Given the description of an element on the screen output the (x, y) to click on. 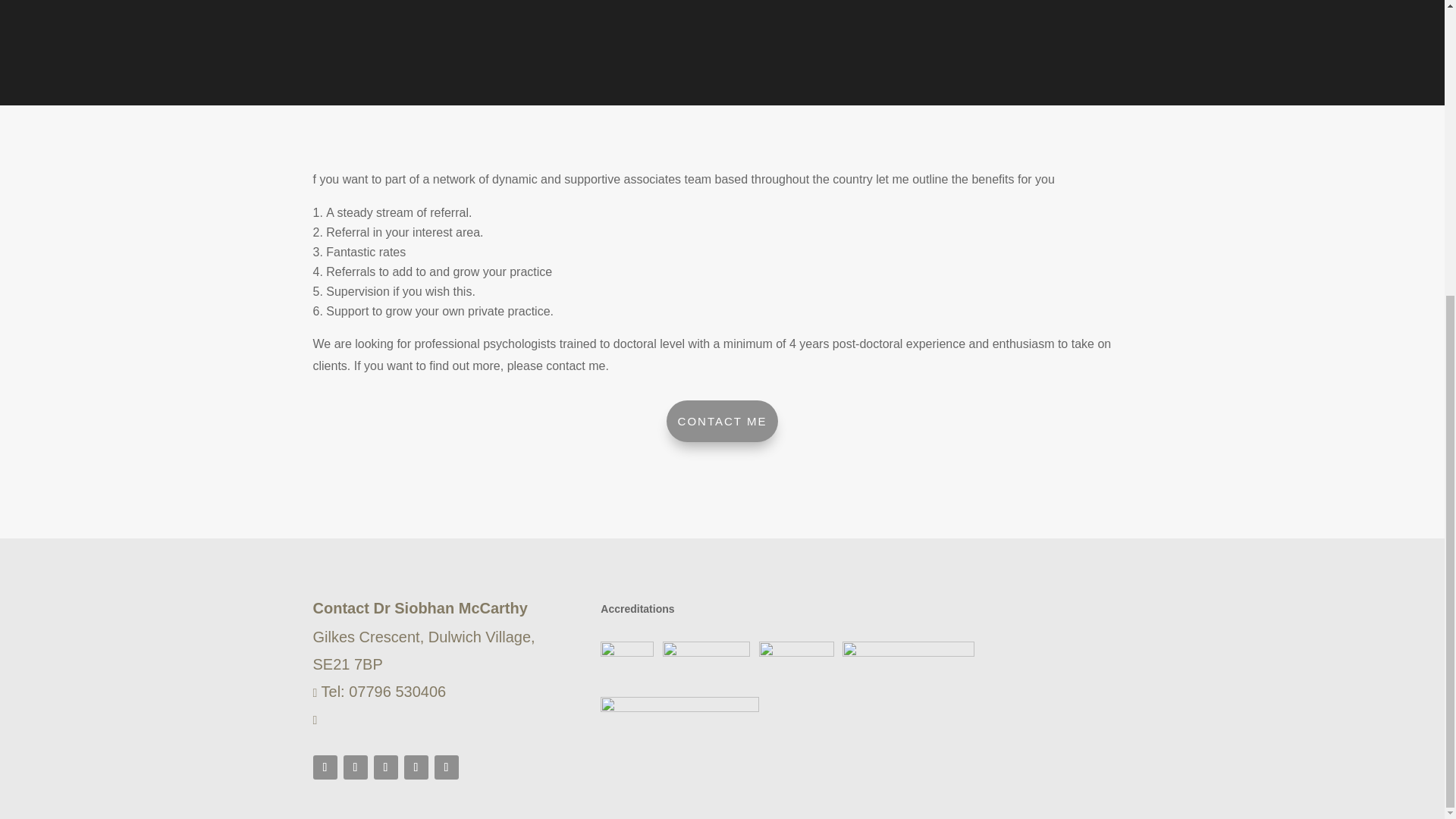
Follow on Twitter (324, 767)
